Given the description of an element on the screen output the (x, y) to click on. 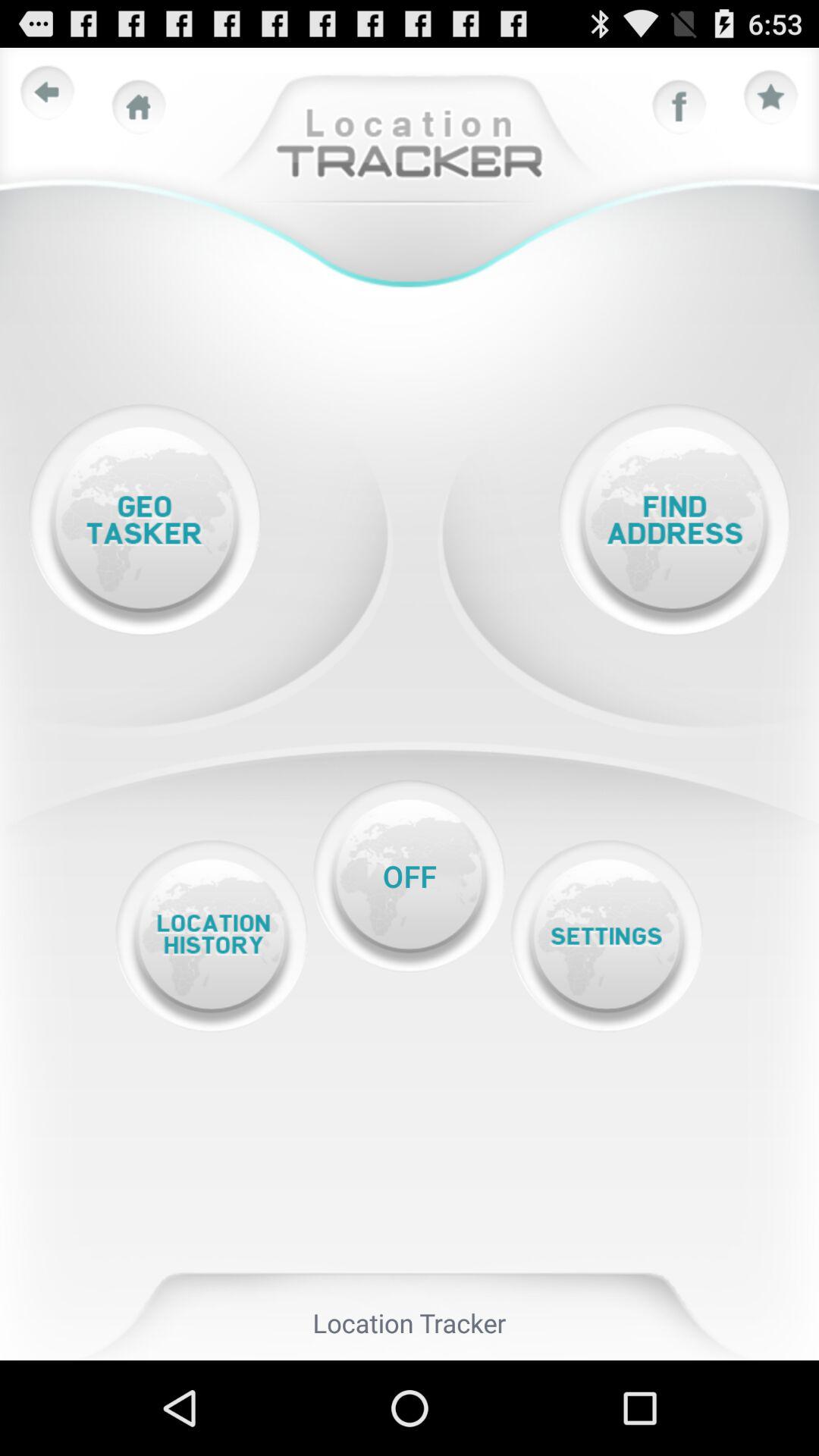
select the button shows location history information (211, 936)
